Given the description of an element on the screen output the (x, y) to click on. 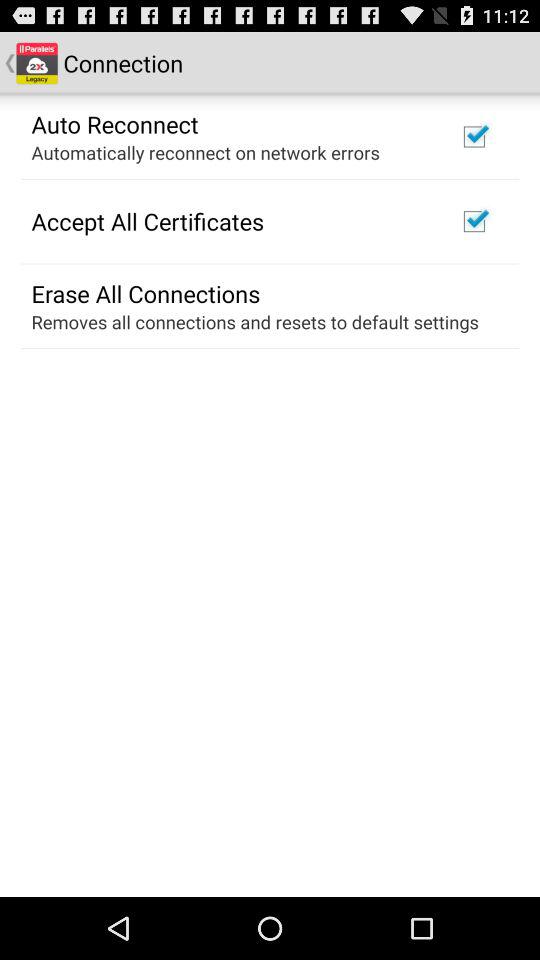
swipe until accept all certificates icon (147, 221)
